Given the description of an element on the screen output the (x, y) to click on. 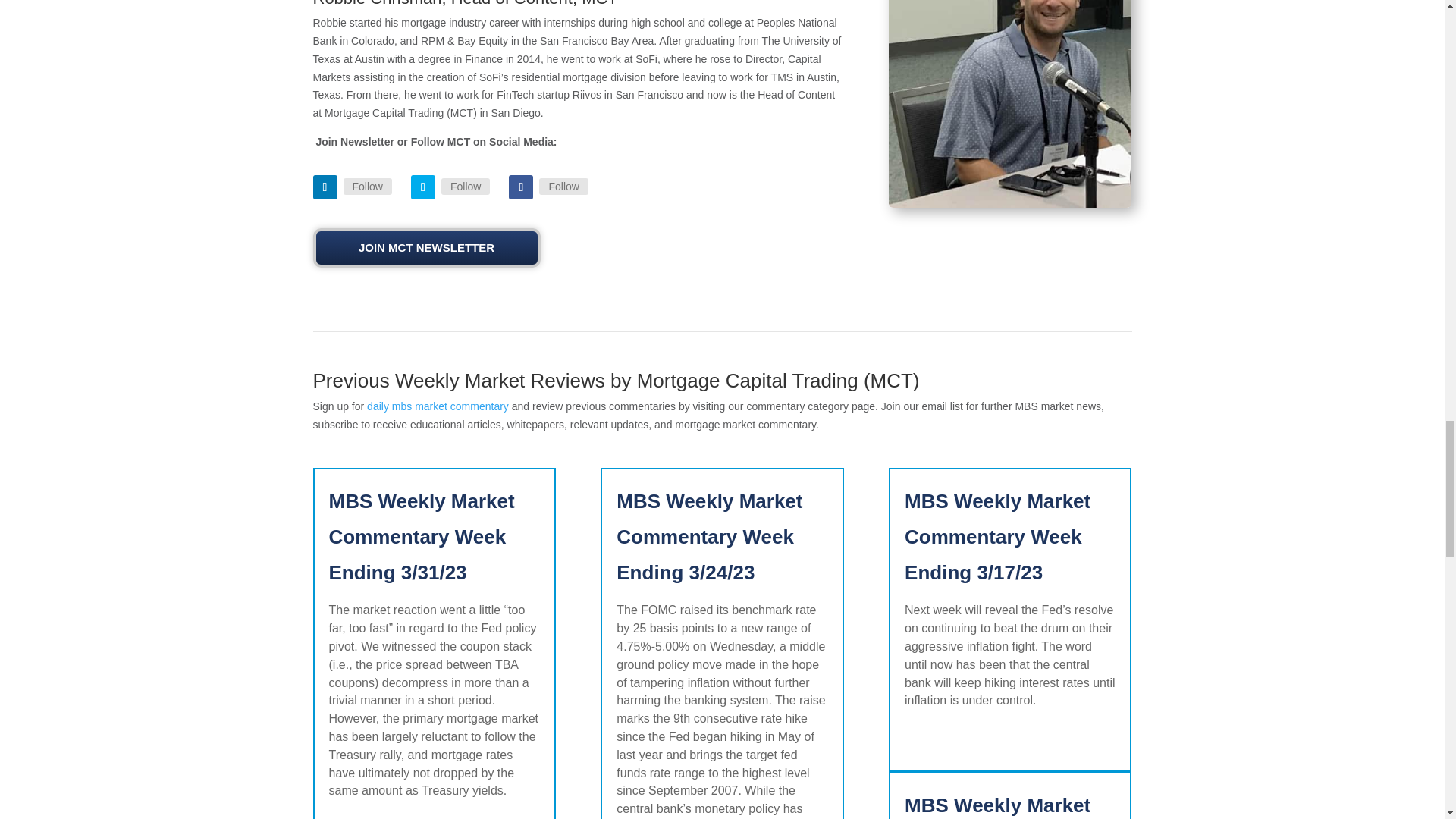
Twitter (465, 186)
Follow on Facebook (520, 187)
Robbie-Chrisman-the-Chrisman-Commentary-head-shot-265x300-1 (1009, 104)
LinkedIn (366, 186)
Follow on LinkedIn (324, 187)
Follow on Twitter (422, 187)
Facebook (563, 186)
